Given the description of an element on the screen output the (x, y) to click on. 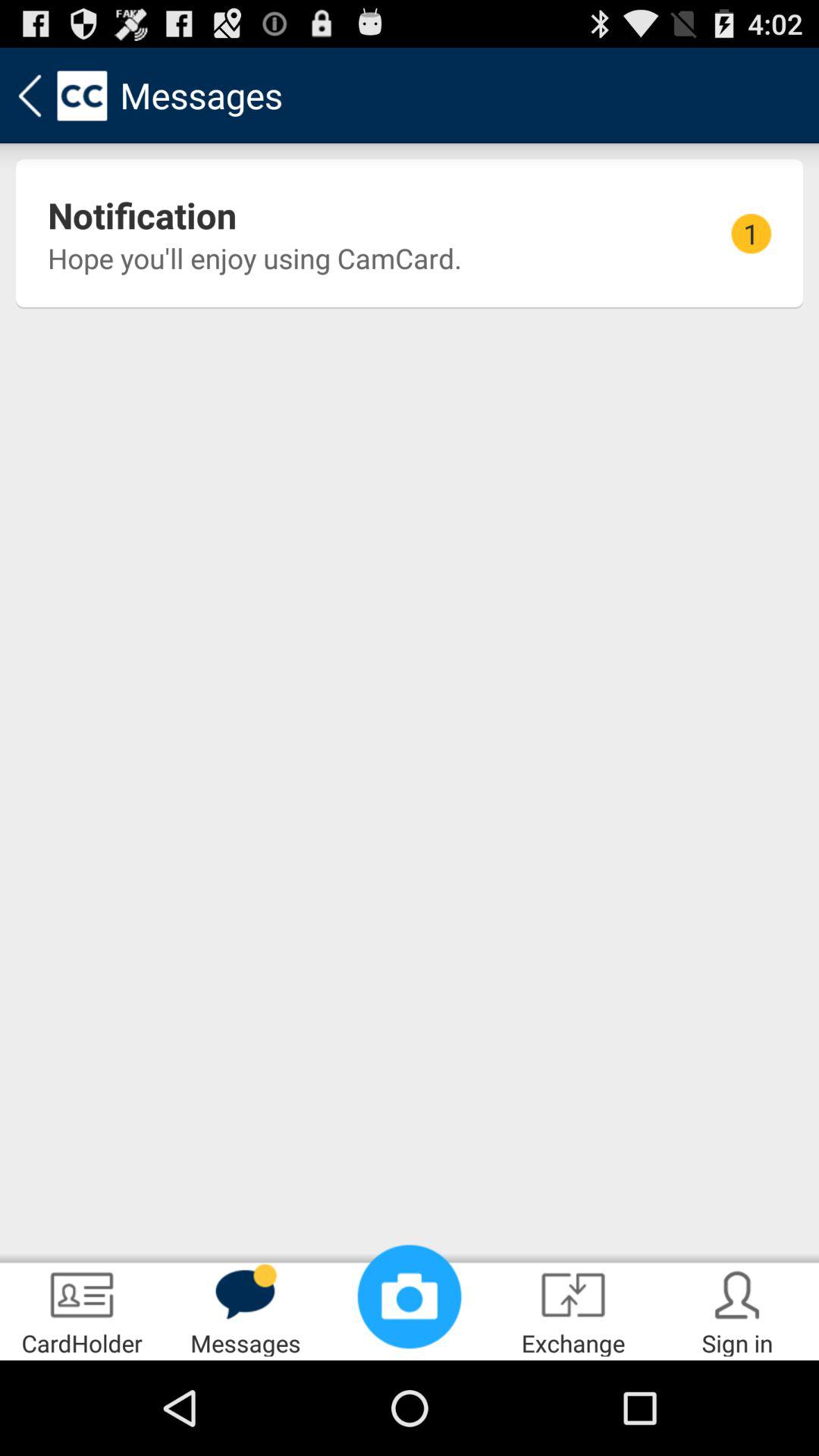
swipe to the cardholder item (81, 1309)
